Given the description of an element on the screen output the (x, y) to click on. 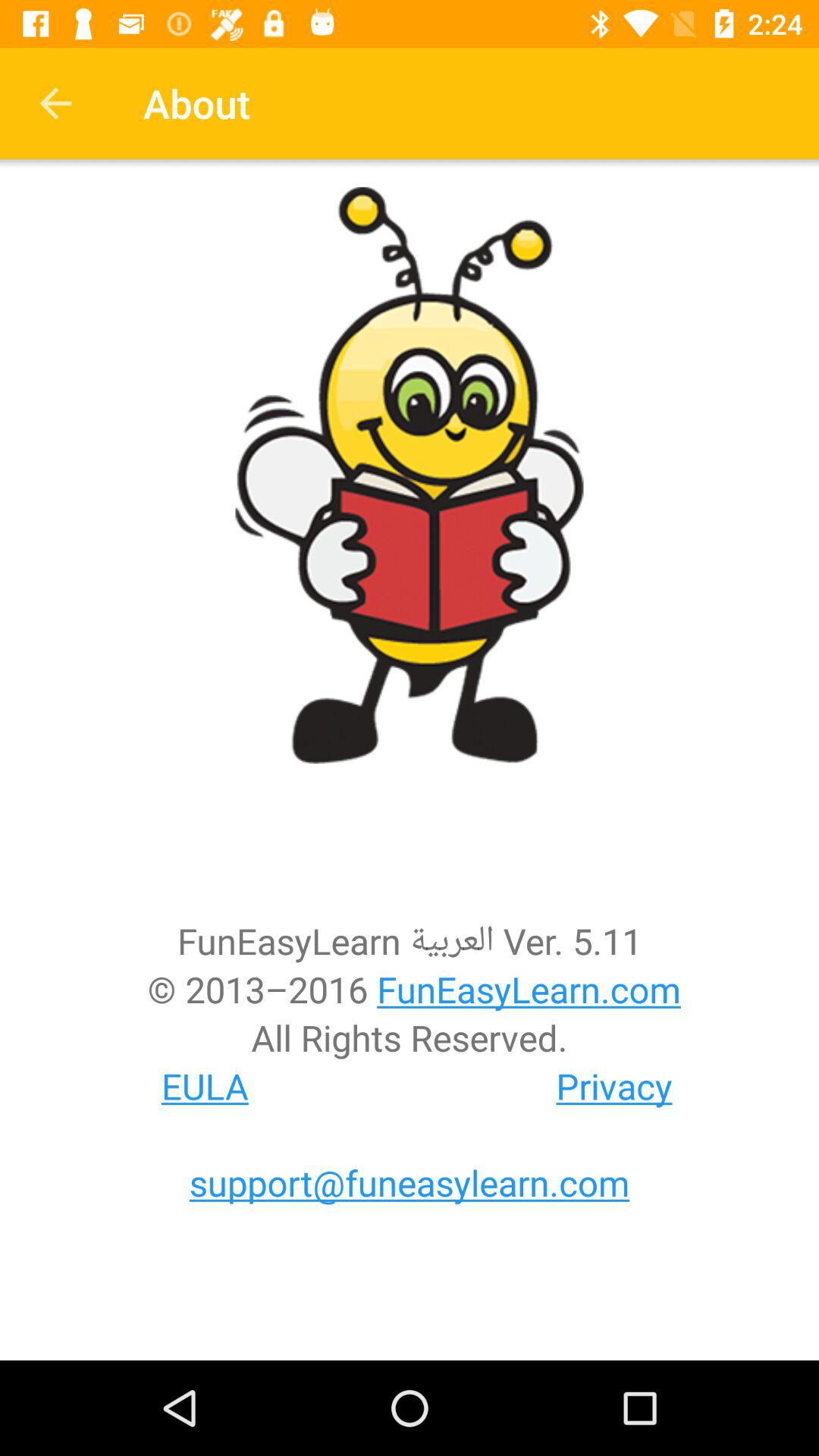
tap eula (204, 1085)
